Given the description of an element on the screen output the (x, y) to click on. 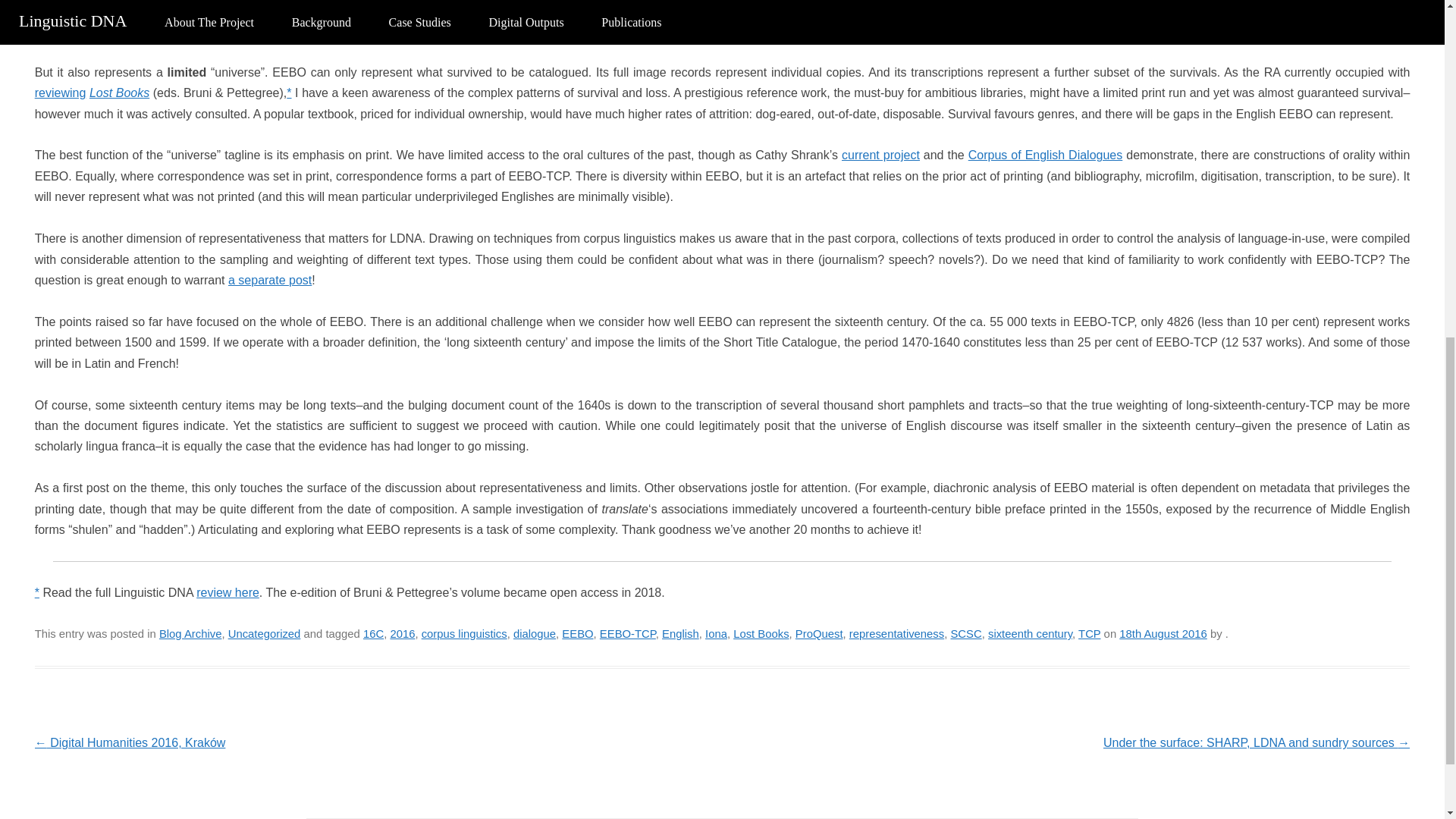
Corpus of English Dialogues (1045, 154)
a separate post (269, 279)
reviewing (59, 92)
current project (880, 154)
review here (227, 592)
Lost Books (118, 92)
Gadd (547, 9)
11:50 am (1163, 633)
